Given the description of an element on the screen output the (x, y) to click on. 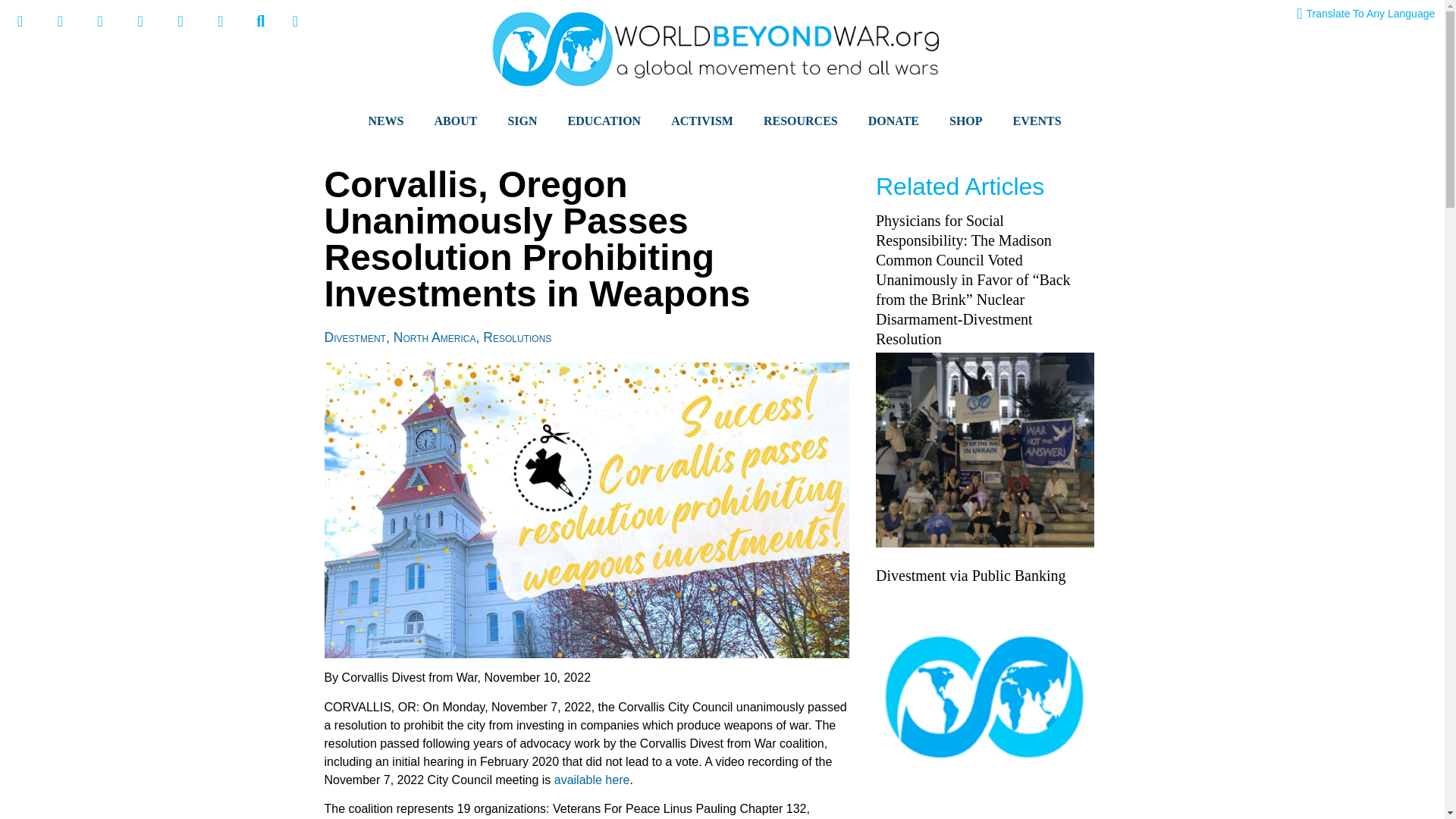
ABOUT (455, 121)
NEWS (384, 121)
Translate To Any Language (1365, 13)
